Given the description of an element on the screen output the (x, y) to click on. 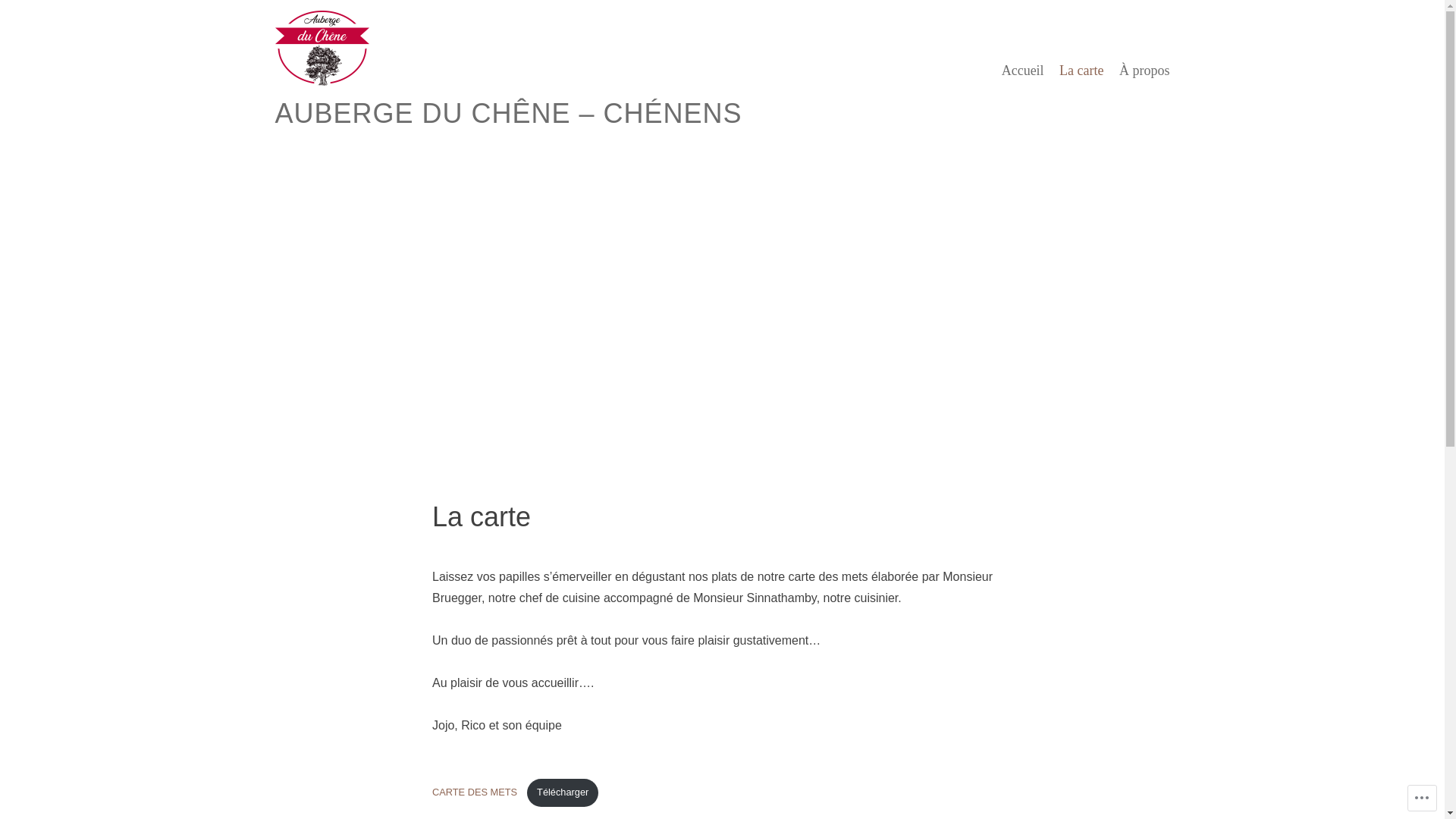
La carte Element type: text (1081, 70)
CARTE DES METS Element type: text (476, 792)
Accueil Element type: text (1022, 70)
